Given the description of an element on the screen output the (x, y) to click on. 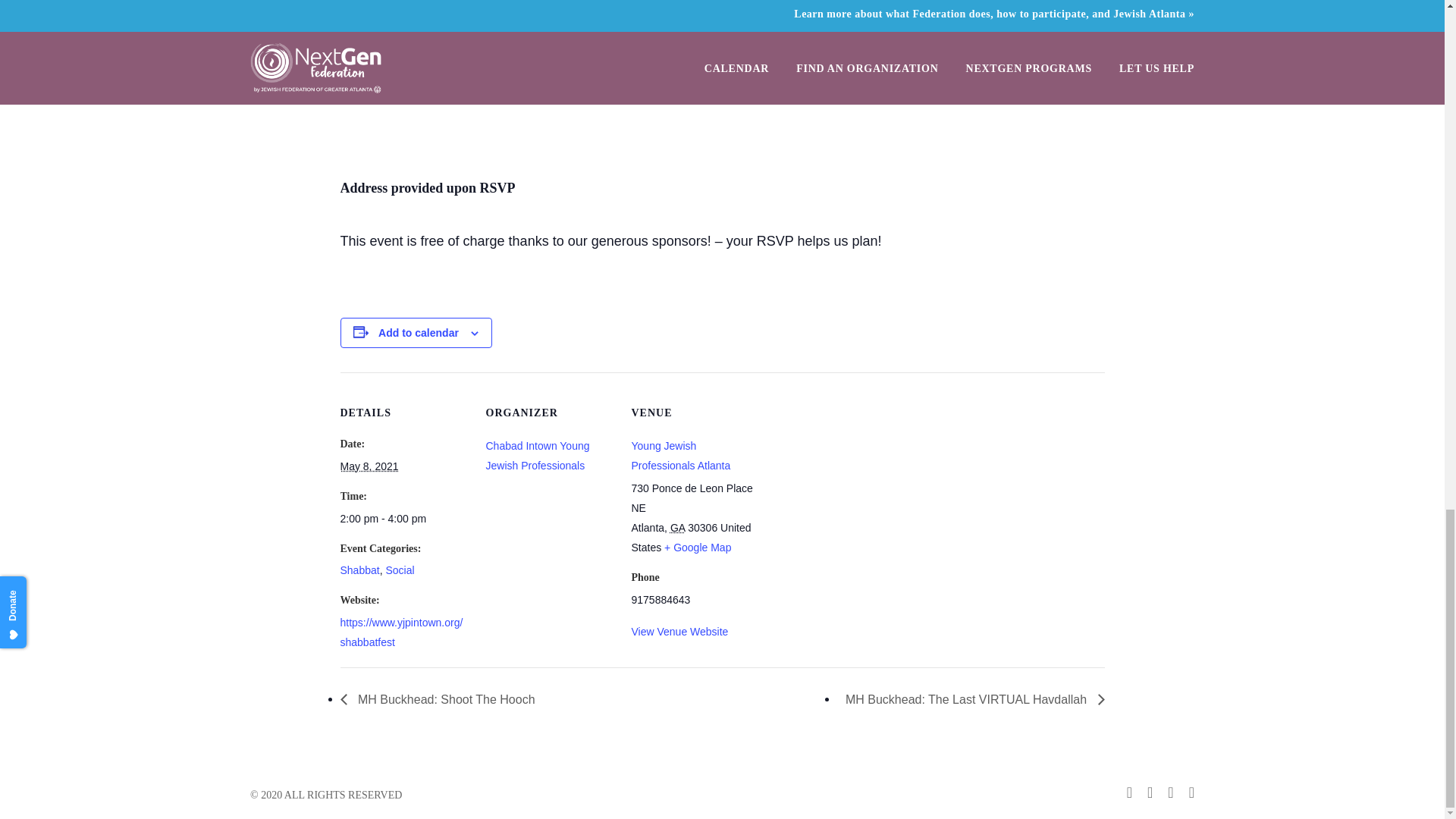
Add to calendar (418, 332)
Young Jewish Professionals Atlanta (680, 455)
Social (399, 570)
MH Buckhead: The Last VIRTUAL Havdallah (971, 698)
View Venue Website (679, 631)
Chabad Intown Young Jewish Professionals (536, 455)
2021-05-08 (403, 518)
MH Buckhead: Shoot The Hooch (441, 698)
2021-05-08 (368, 466)
Click to view a Google Map (696, 547)
Shabbat (358, 570)
Chabad Intown Young Jewish Professionals (536, 455)
Georgia (676, 527)
